Given the description of an element on the screen output the (x, y) to click on. 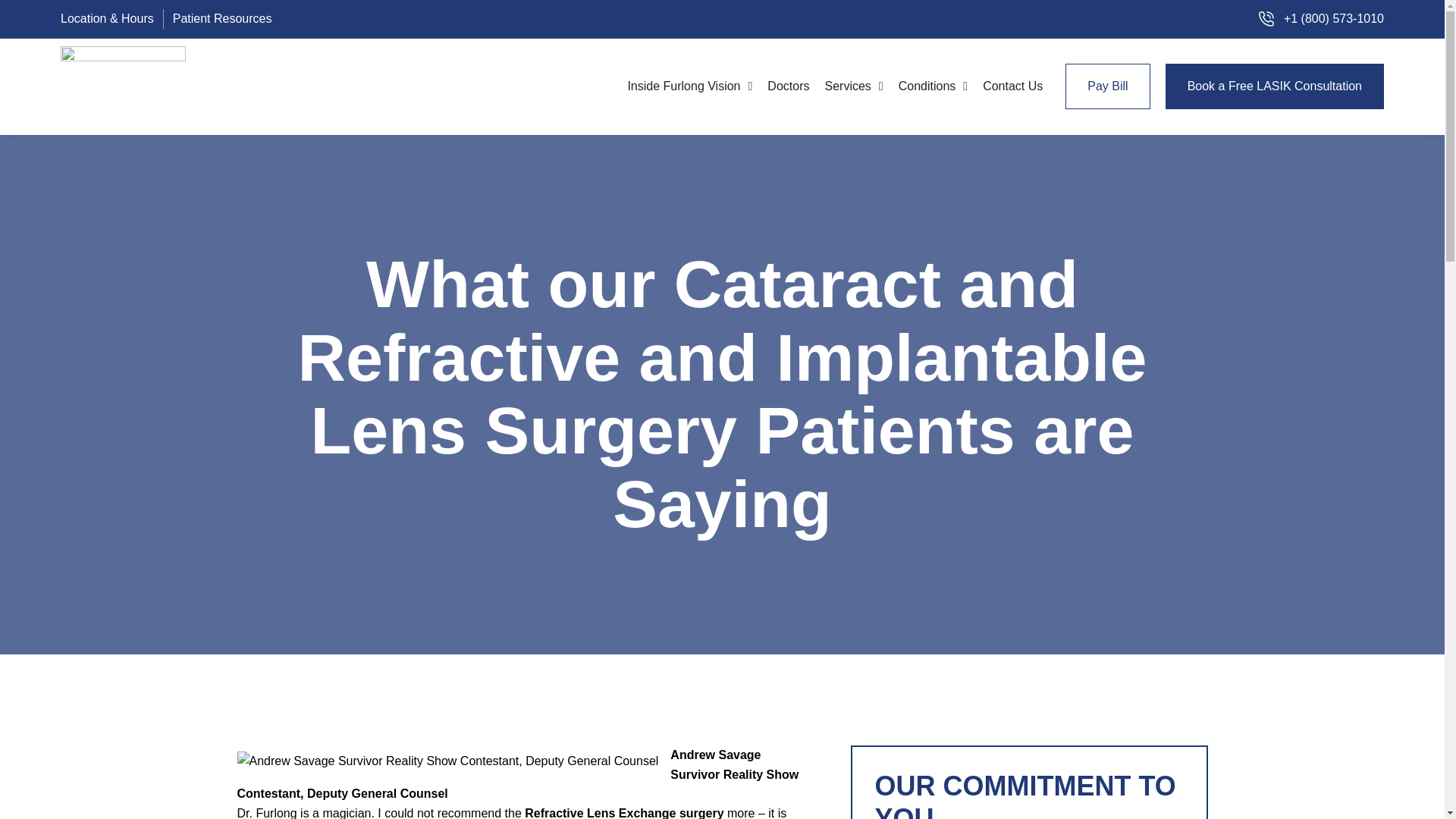
Doctors (788, 86)
Patient Resources (222, 18)
Services (852, 86)
Inside Furlong Vision (690, 86)
Conditions (933, 86)
